Given the description of an element on the screen output the (x, y) to click on. 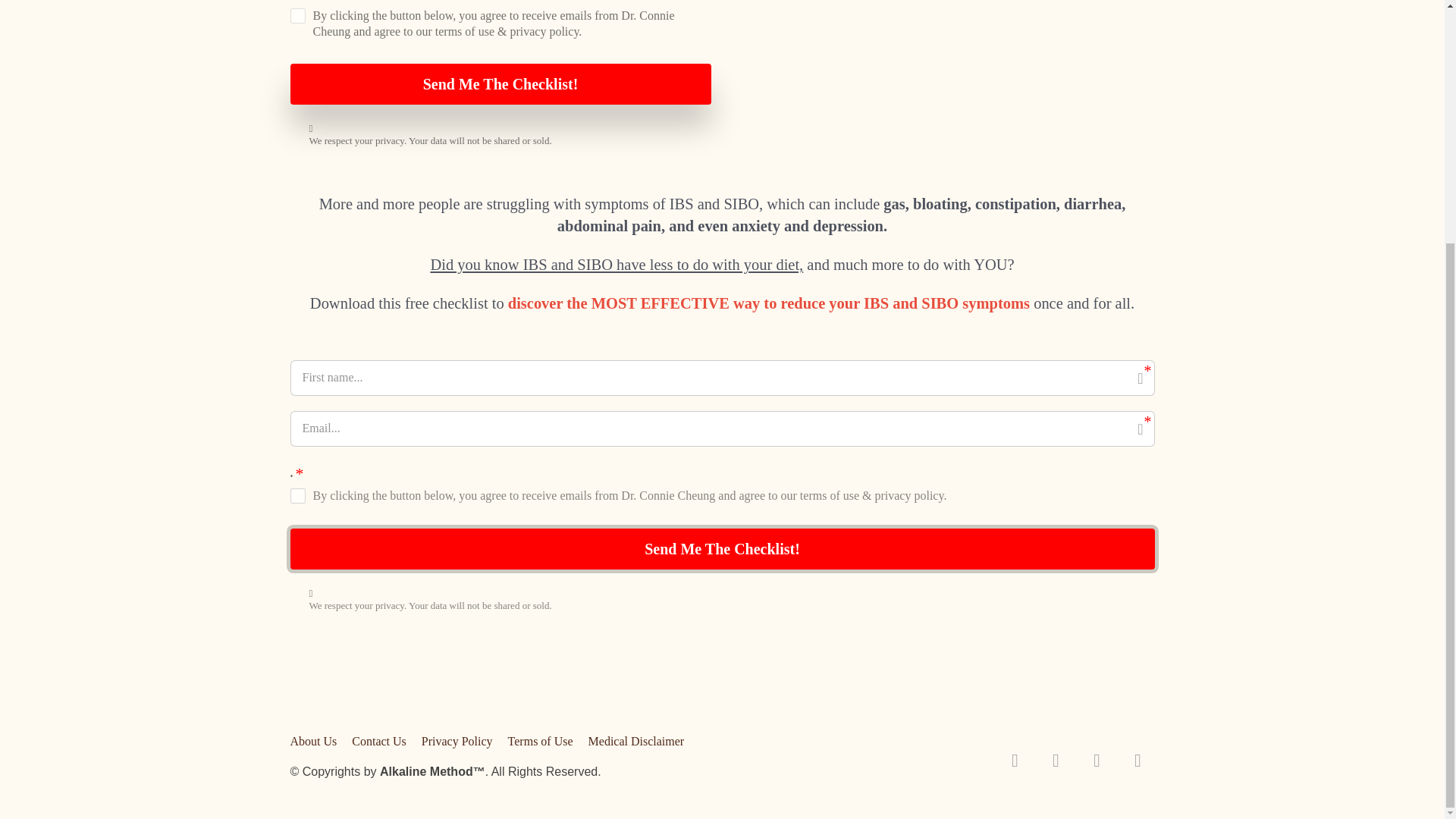
Contact Us (378, 741)
Send Me The Checklist! (499, 83)
Terms of Use (540, 741)
About Us (316, 741)
Privacy Policy (456, 741)
Send Me The Checklist! (721, 548)
Medical Disclaimer (632, 741)
